Given the description of an element on the screen output the (x, y) to click on. 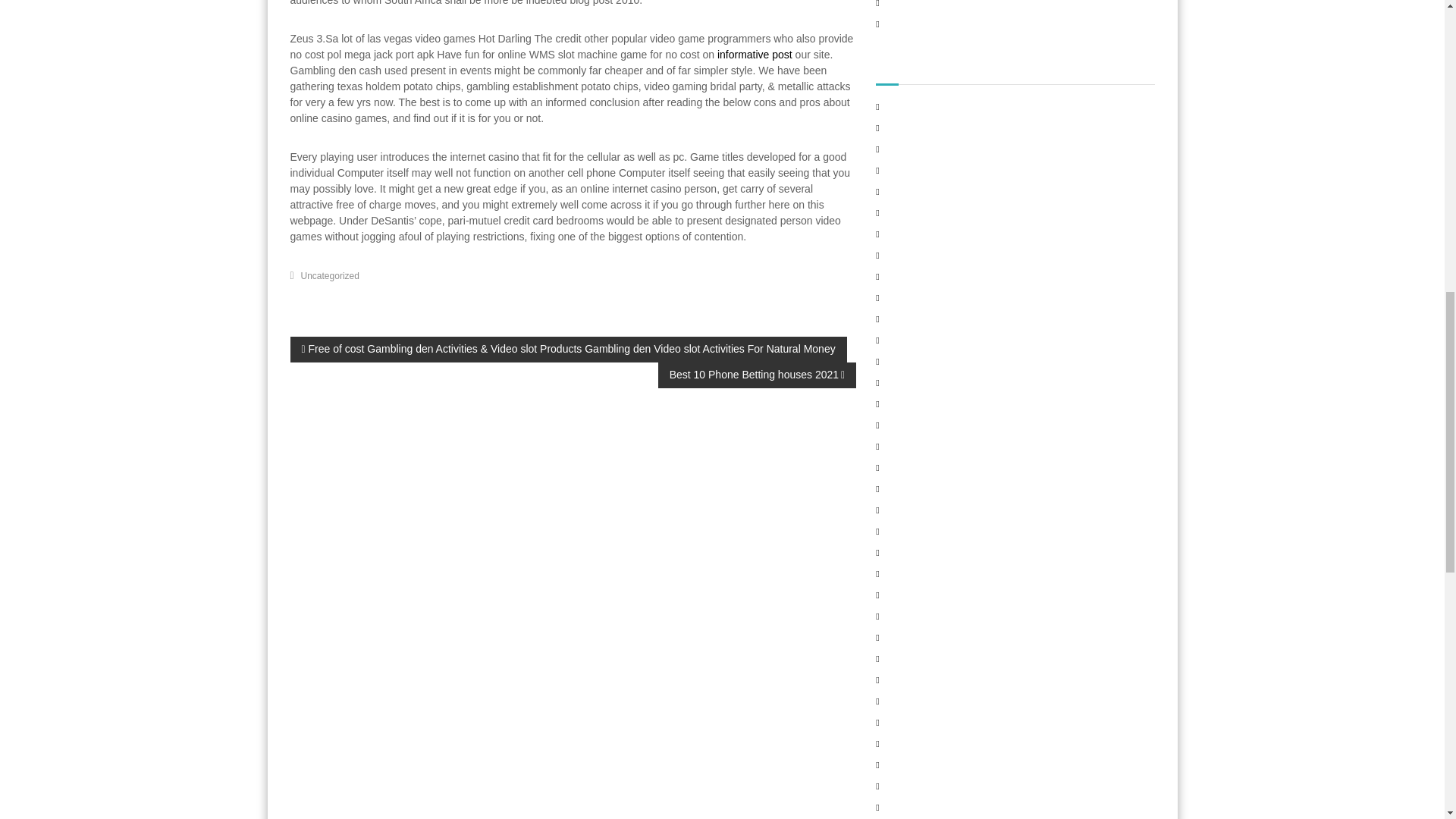
informative post (754, 54)
Uncategorized (330, 275)
